Given the description of an element on the screen output the (x, y) to click on. 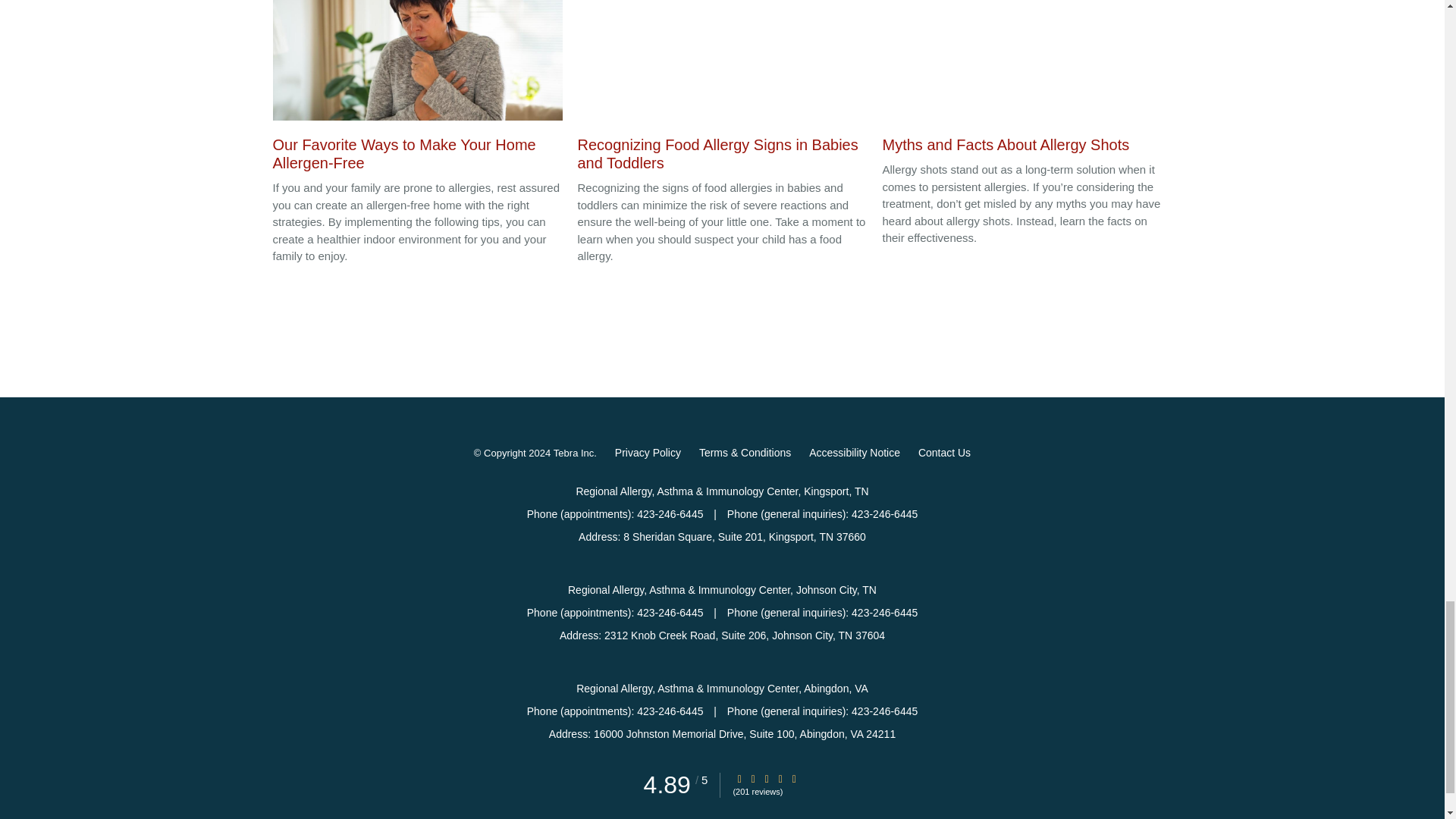
Star Rating (780, 778)
Star Rating (766, 778)
Star Rating (794, 778)
Star Rating (738, 778)
Star Rating (753, 778)
